Given the description of an element on the screen output the (x, y) to click on. 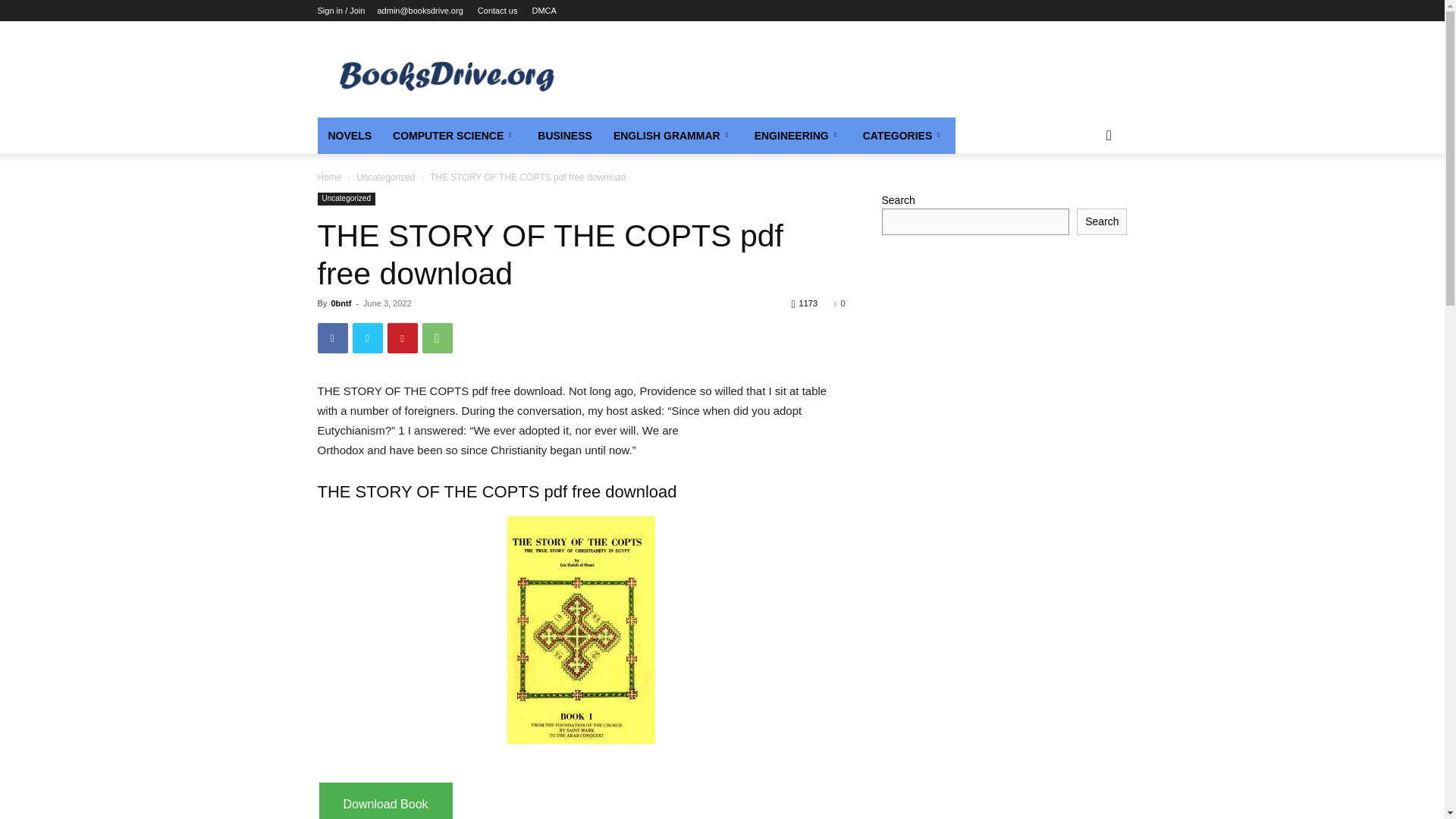
Twitter (366, 337)
ENGLISH GRAMMAR (673, 135)
NOVELS (349, 135)
DMCA (543, 10)
Facebook (332, 337)
Contact us (497, 10)
WhatsApp (436, 337)
CATEGORIES (903, 135)
View all posts in Uncategorized (385, 176)
Pinterest (401, 337)
COMPUTER SCIENCE (454, 135)
BUSINESS (564, 135)
ENGINEERING (797, 135)
